Given the description of an element on the screen output the (x, y) to click on. 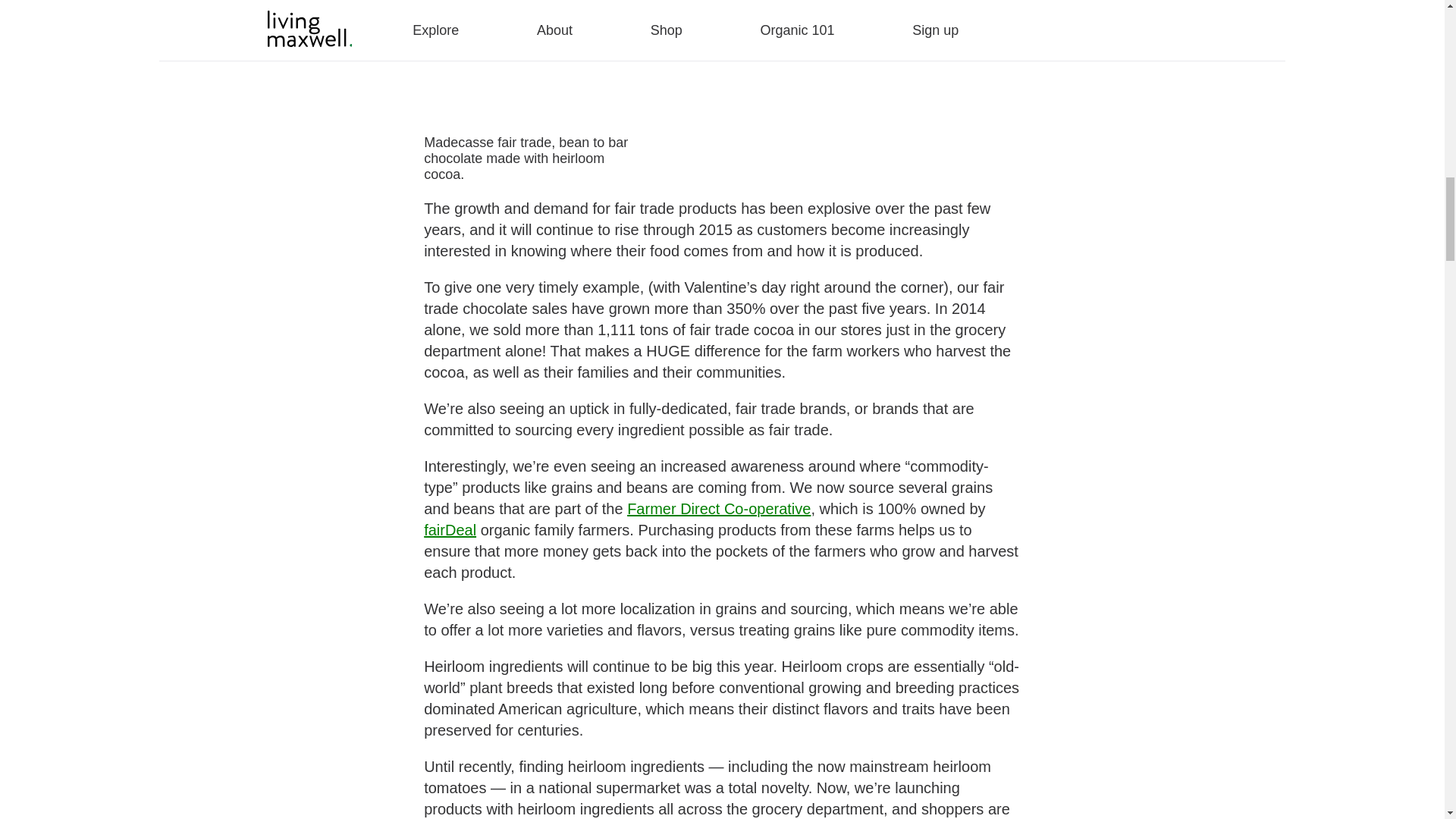
fairDeal (449, 529)
Farmer Direct Co-operative (718, 508)
